Given the description of an element on the screen output the (x, y) to click on. 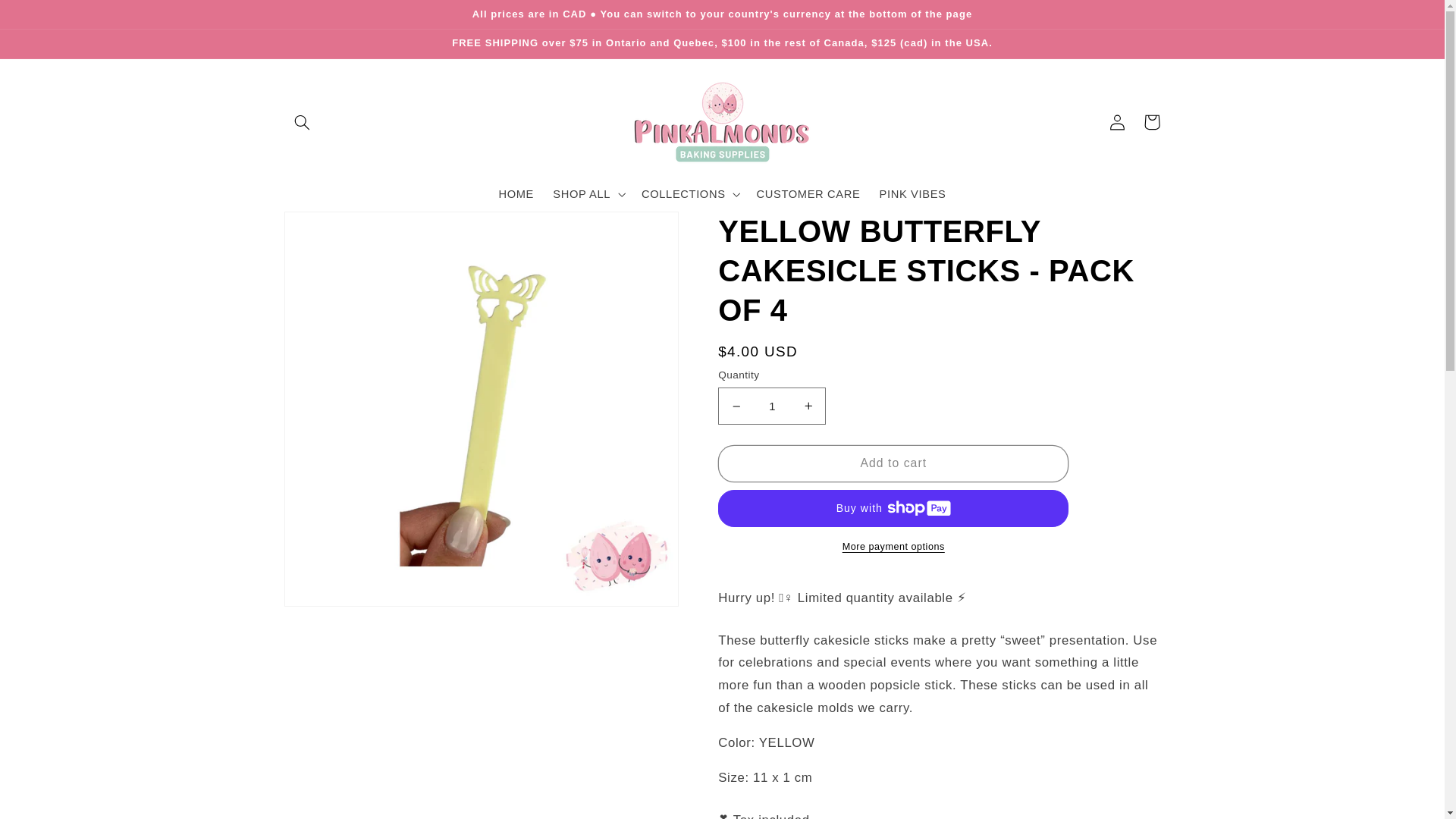
Skip to content (48, 18)
1 (771, 406)
HOME (516, 194)
